Given the description of an element on the screen output the (x, y) to click on. 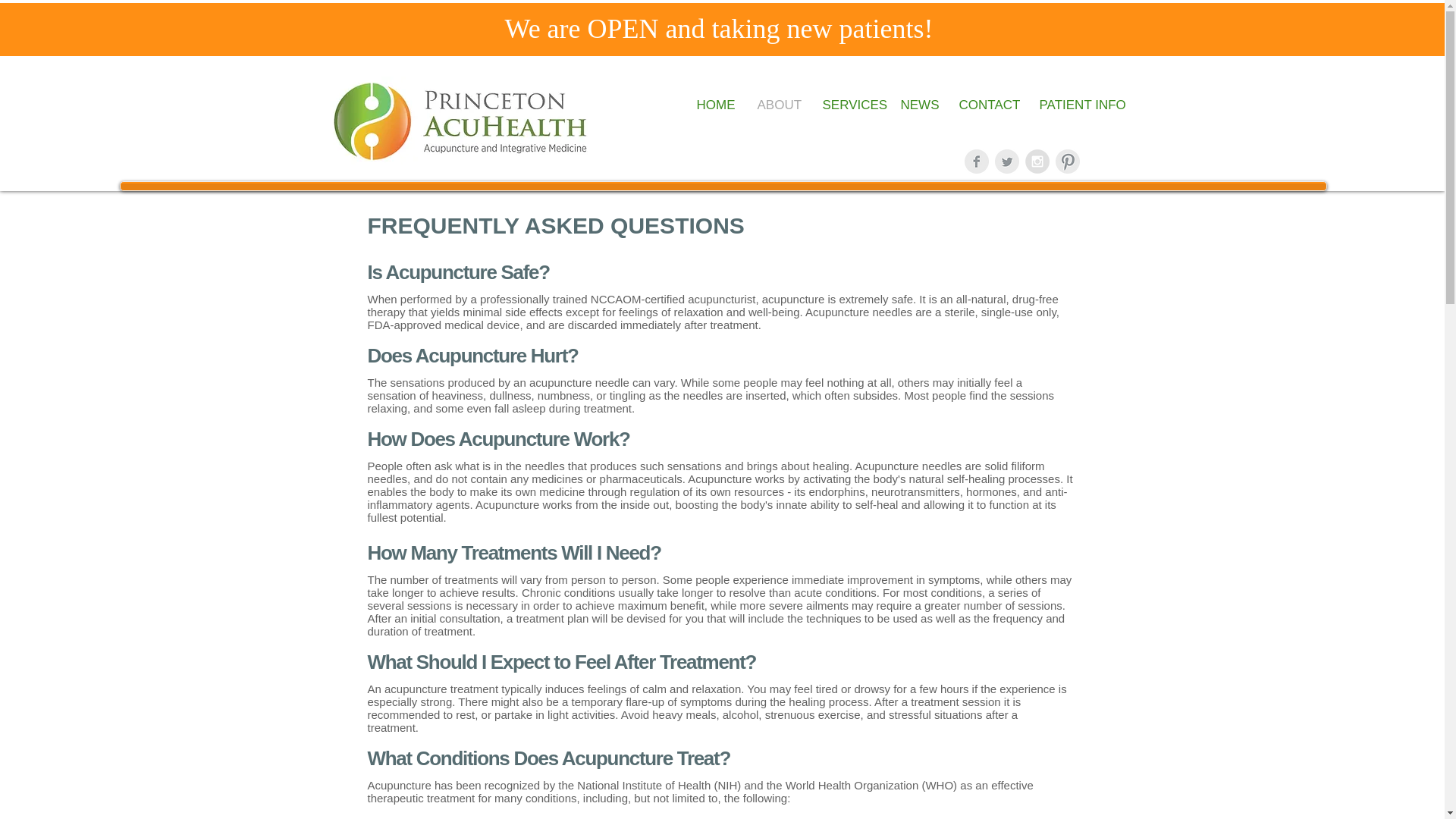
CONTACT (987, 105)
ABOUT (777, 105)
HOME (715, 105)
NEWS (917, 105)
PATIENT INFO (1079, 105)
SERVICES (849, 105)
